Given the description of an element on the screen output the (x, y) to click on. 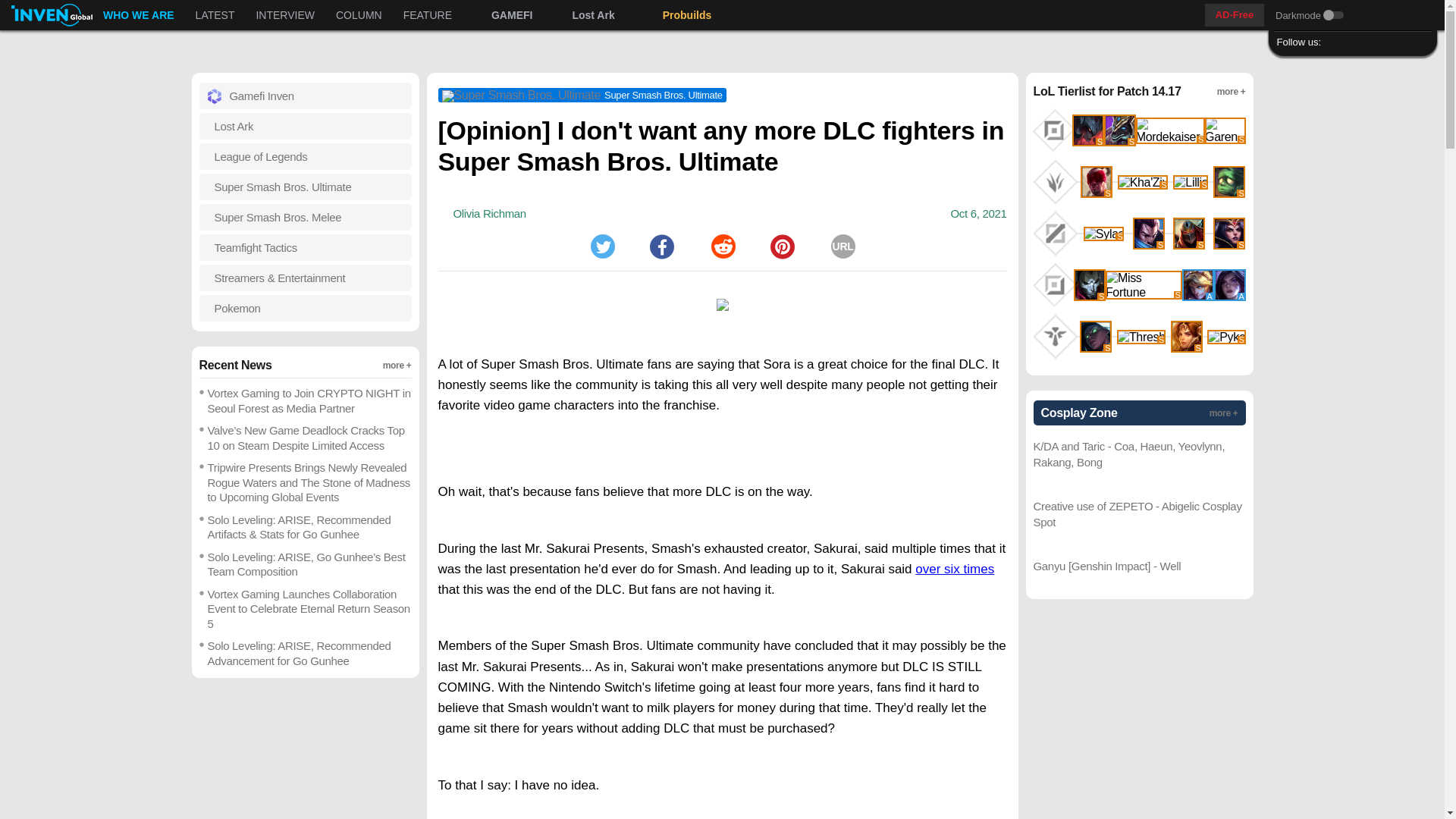
Facebook (661, 246)
URL (843, 246)
Pinterest (782, 246)
Inven Global Twitter (1334, 42)
Inven Global Facebook (1358, 42)
Share (661, 246)
Inven Global Twitter (1334, 42)
Twitter (601, 246)
Inven Global Youtube (407, 15)
